Given the description of an element on the screen output the (x, y) to click on. 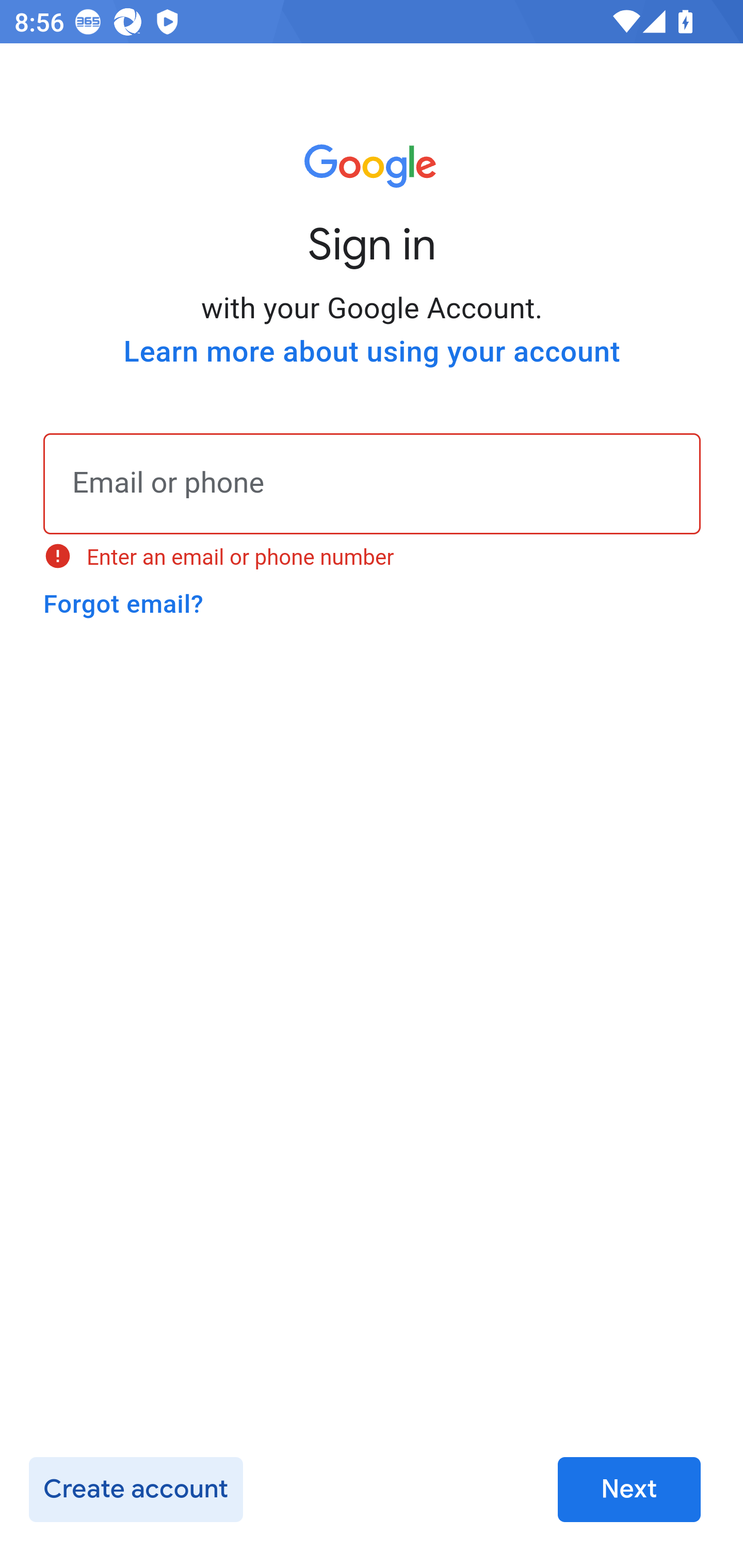
Learn more about using your account (371, 351)
Forgot email? (123, 604)
Create account (134, 1490)
Next (629, 1490)
